Given the description of an element on the screen output the (x, y) to click on. 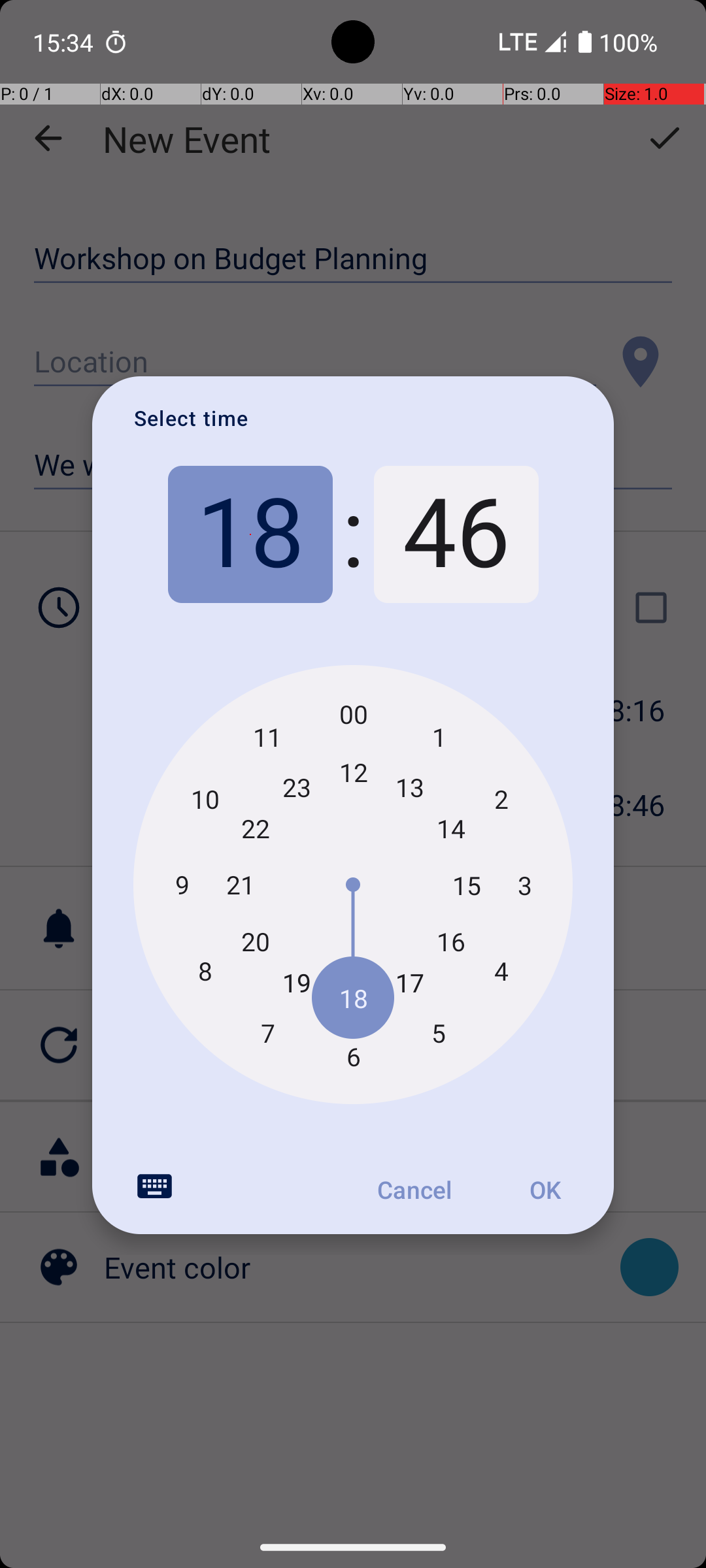
46 Element type: android.view.View (455, 534)
